Given the description of an element on the screen output the (x, y) to click on. 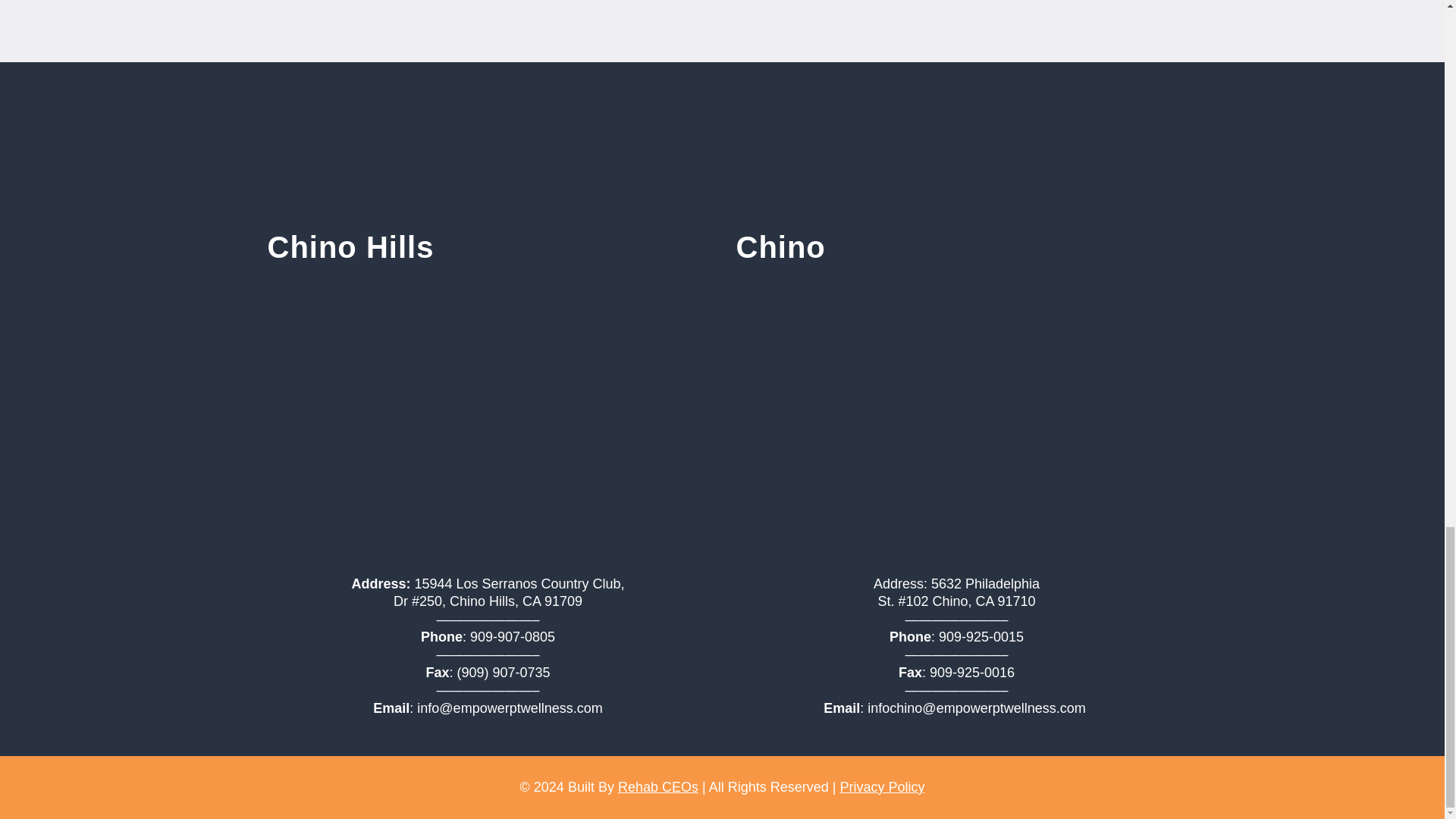
image2 (722, 129)
